Given the description of an element on the screen output the (x, y) to click on. 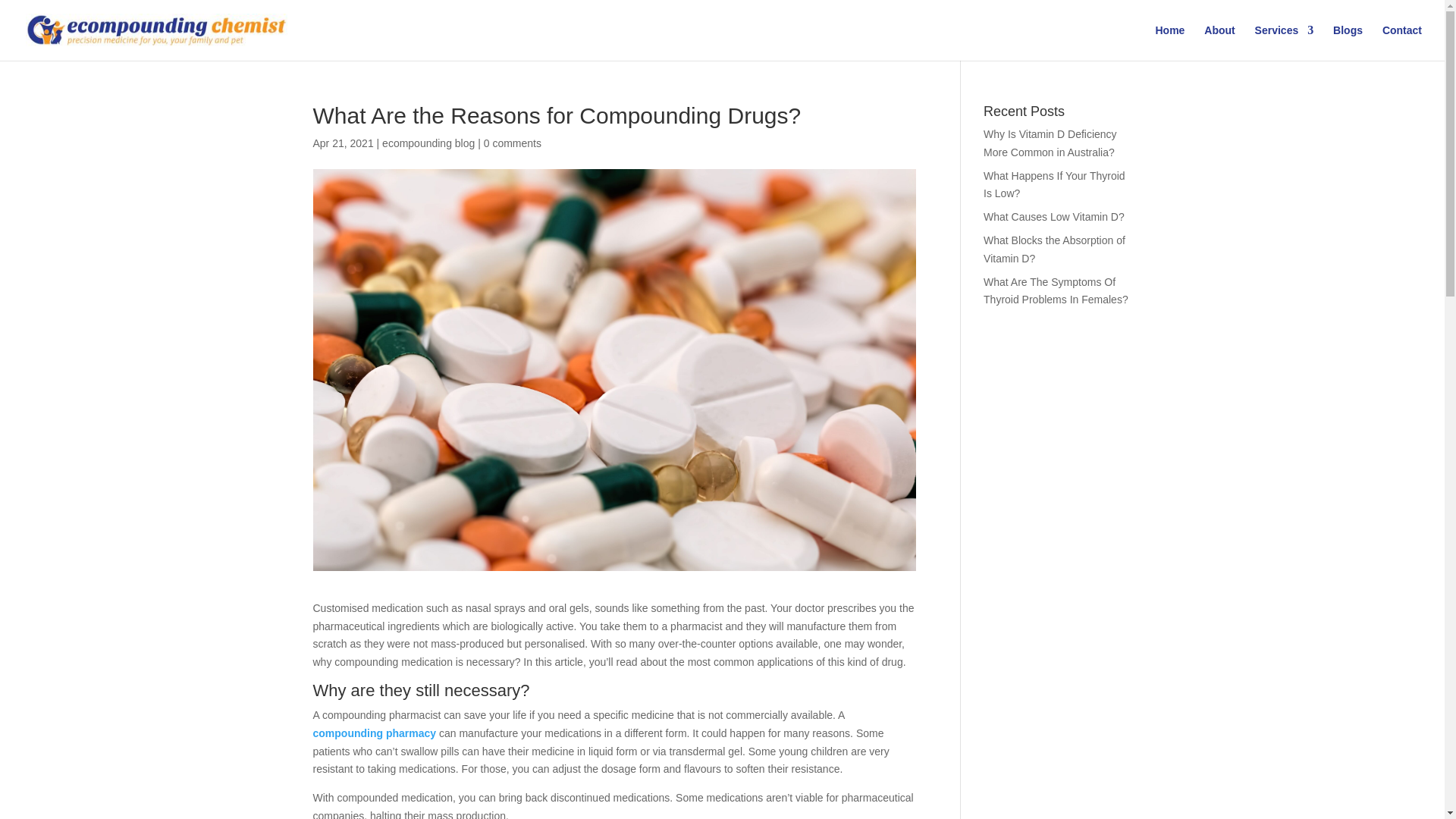
ecompounding blog (427, 143)
What Happens If Your Thyroid Is Low? (1054, 184)
0 comments (512, 143)
What Causes Low Vitamin D? (1054, 216)
What Are The Symptoms Of Thyroid Problems In Females? (1056, 291)
What Blocks the Absorption of Vitamin D? (1054, 249)
Why Is Vitamin D Deficiency More Common in Australia? (1050, 142)
compounding pharmacy (374, 733)
Services (1284, 42)
Contact (1401, 42)
